Given the description of an element on the screen output the (x, y) to click on. 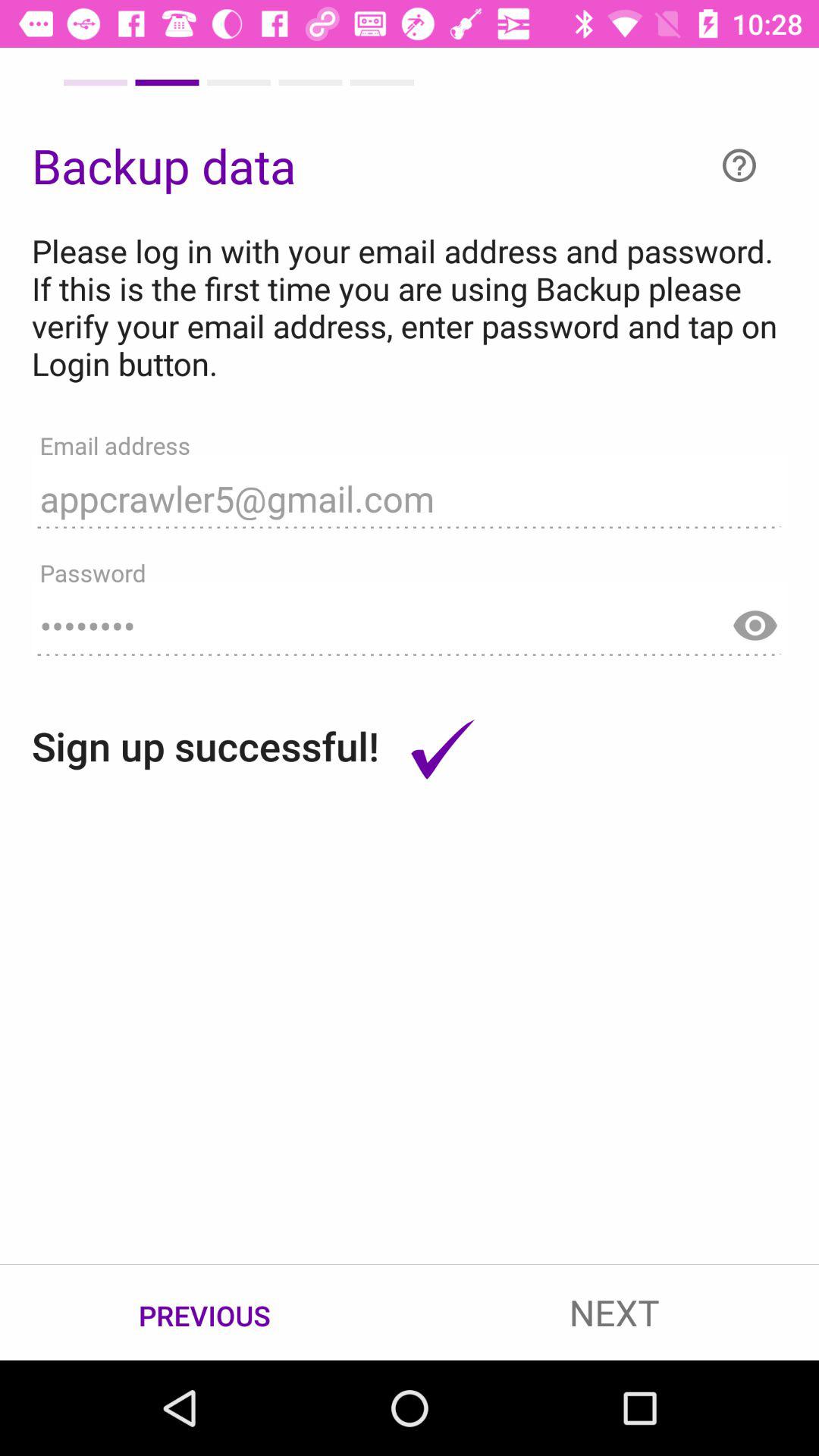
choose item on the right (755, 618)
